Given the description of an element on the screen output the (x, y) to click on. 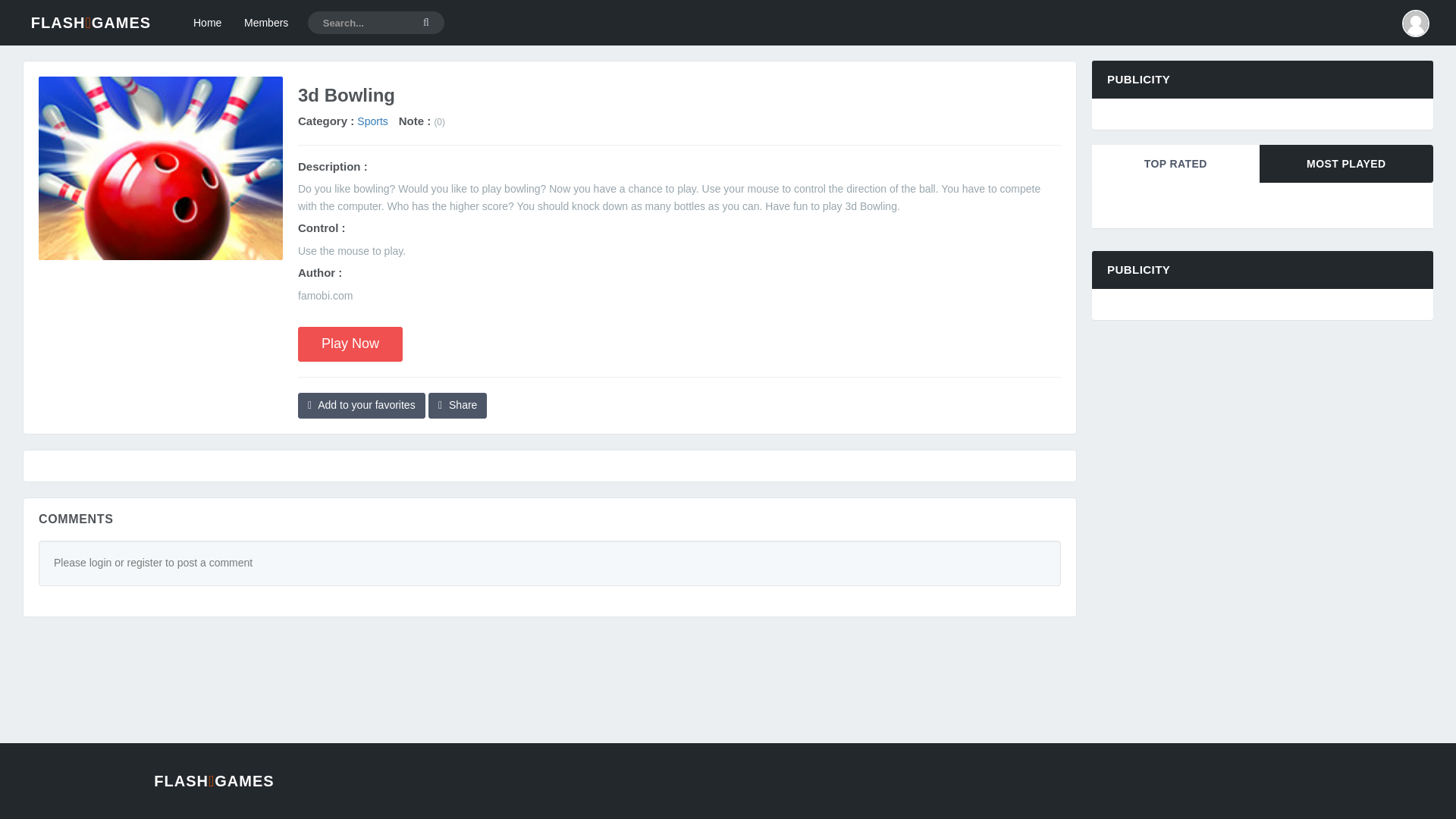
Members (265, 22)
Sports (371, 121)
MOST PLAYED (1345, 163)
FLASHGAMES (90, 22)
Add to your favorites (361, 405)
Home (207, 22)
TOP RATED (1175, 163)
Play Now (350, 343)
Share (457, 405)
